Given the description of an element on the screen output the (x, y) to click on. 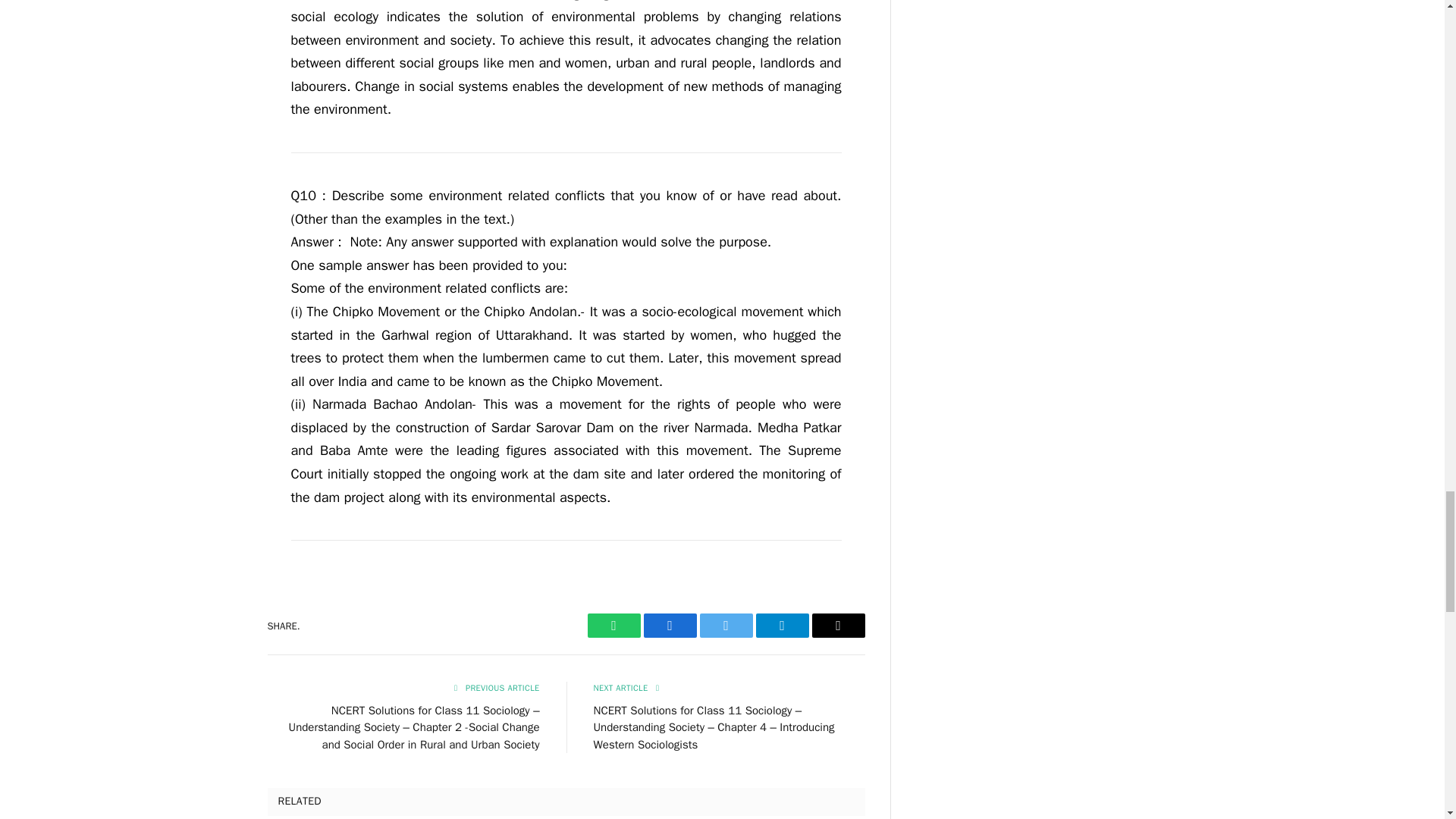
Share on WhatsApp (613, 625)
Share on Facebook (669, 625)
Share via Email (837, 625)
Telegram (781, 625)
Email (837, 625)
Share on Telegram (781, 625)
WhatsApp (613, 625)
Facebook (669, 625)
Twitter (725, 625)
